Given the description of an element on the screen output the (x, y) to click on. 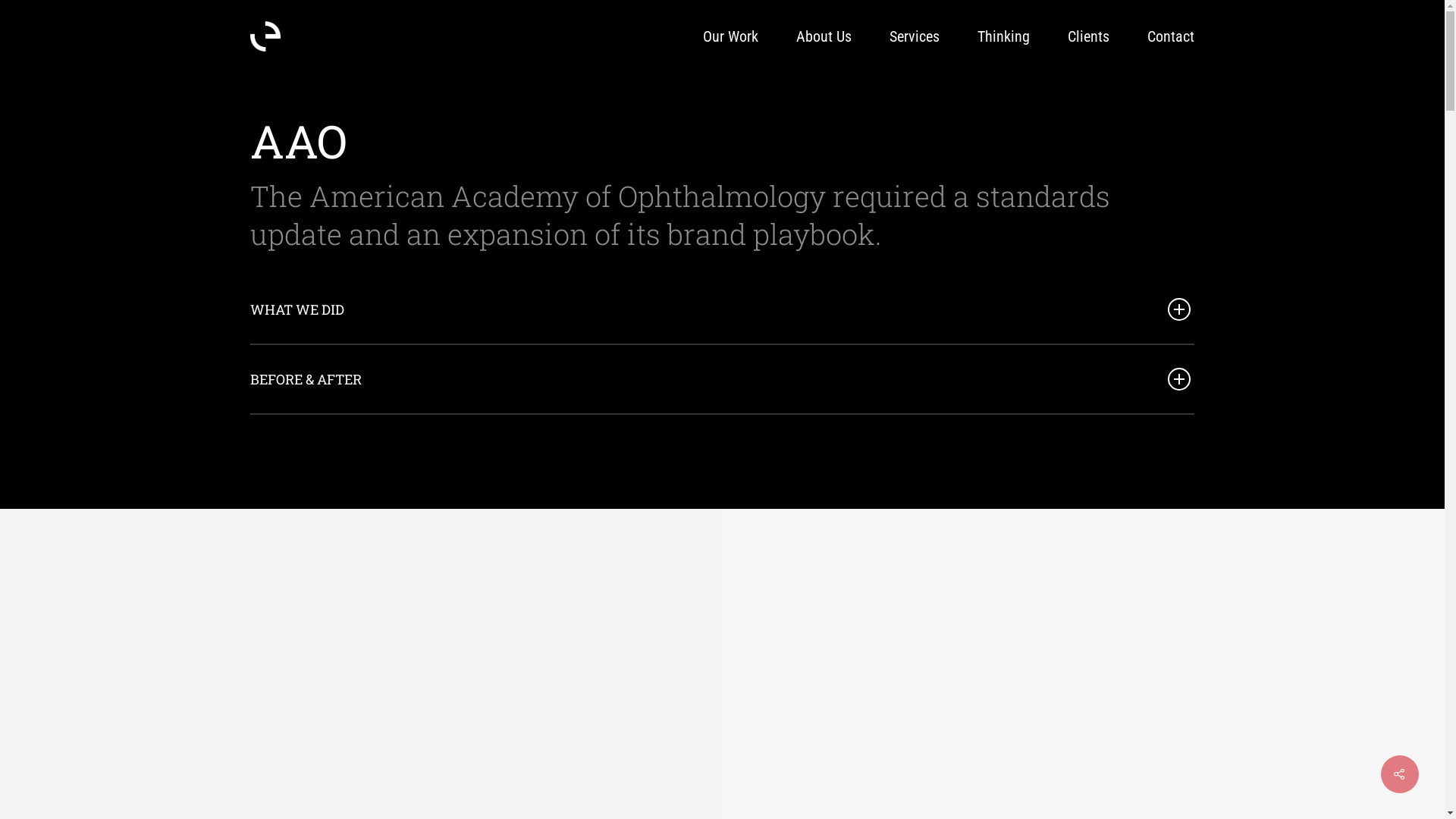
Thinking Element type: text (1003, 35)
BEFORE & AFTER Element type: text (722, 379)
About Us Element type: text (823, 35)
Contact Element type: text (1170, 35)
Services Element type: text (914, 35)
Clients Element type: text (1088, 35)
WHAT WE DID Element type: text (722, 309)
Our Work Element type: text (730, 35)
